Given the description of an element on the screen output the (x, y) to click on. 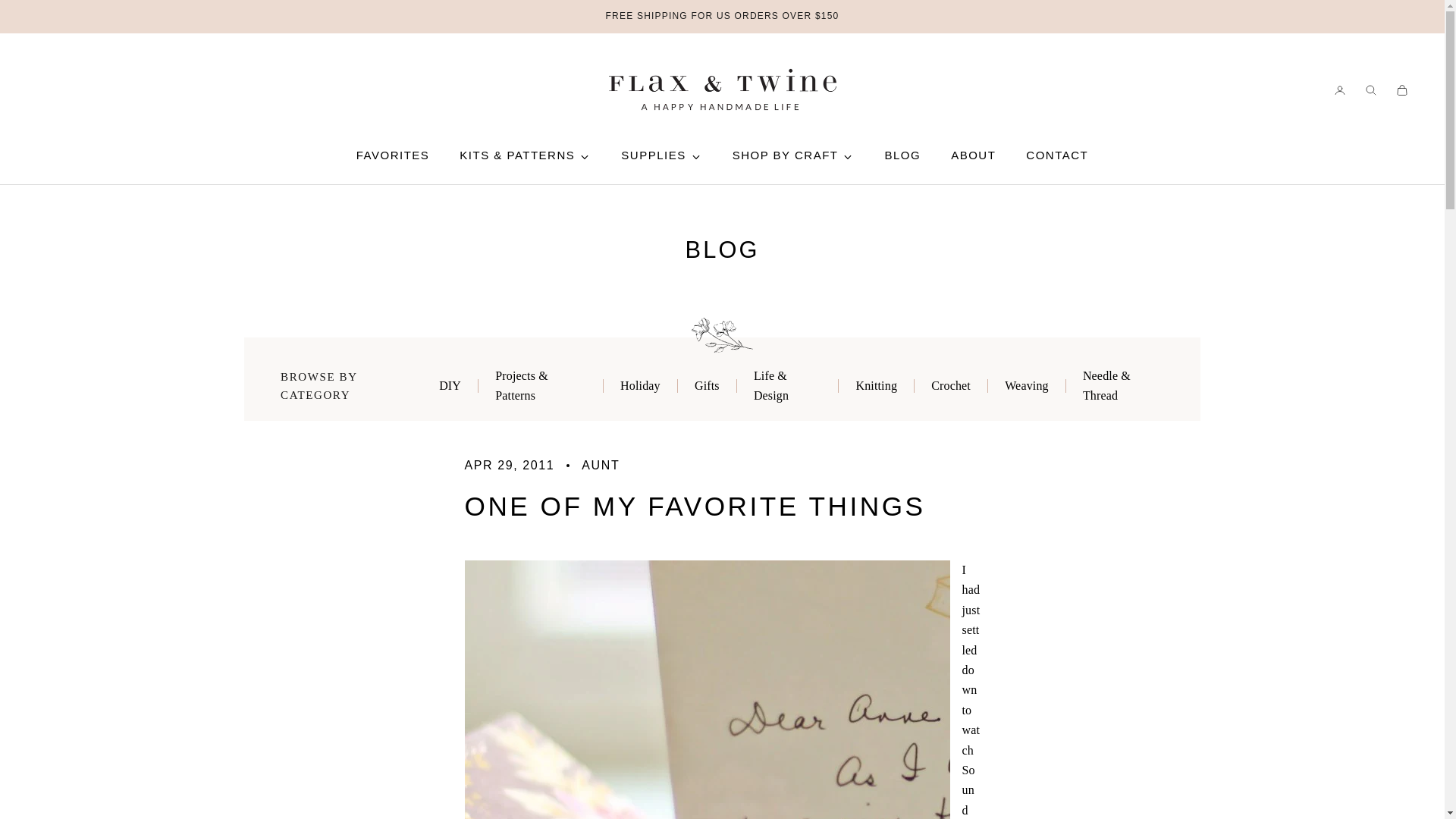
FAVORITES (392, 155)
